Given the description of an element on the screen output the (x, y) to click on. 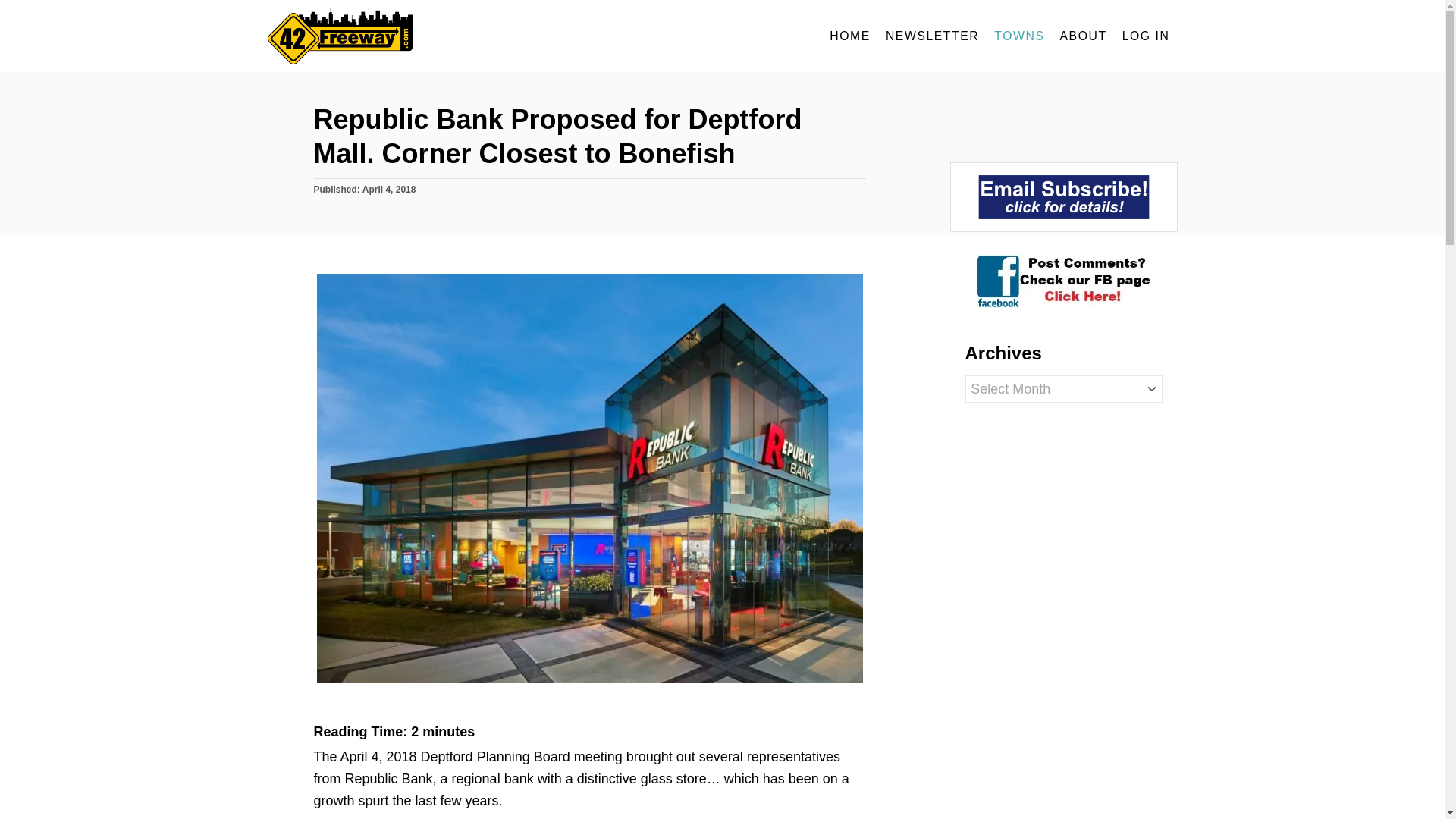
42 Freeway (403, 36)
LOG IN (1146, 36)
HOME (849, 36)
NEWSLETTER (932, 36)
TOWNS (1019, 36)
ABOUT (1083, 36)
